Given the description of an element on the screen output the (x, y) to click on. 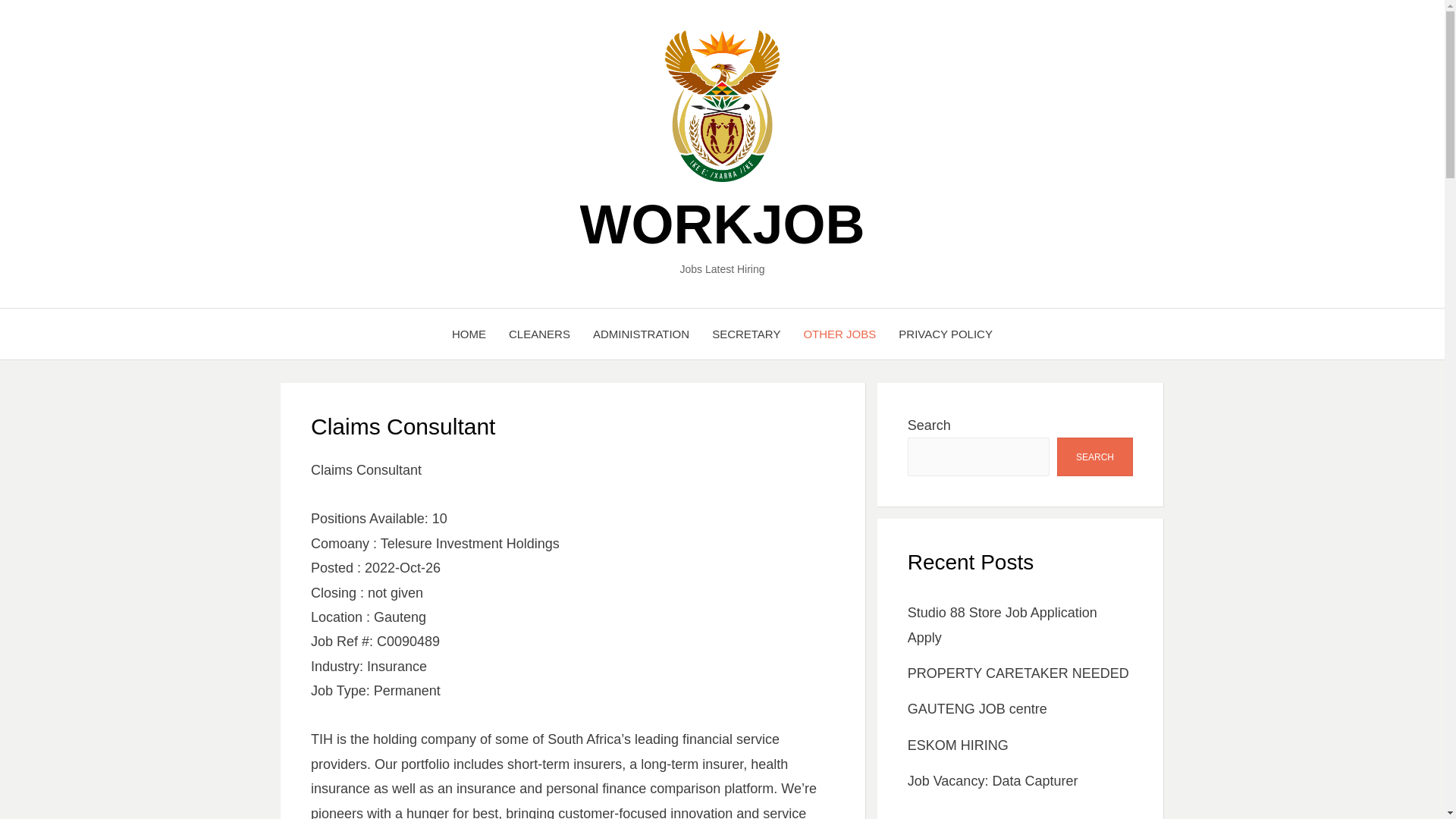
WORKJOB (721, 224)
HOME (469, 333)
CLEANERS (538, 333)
PROPERTY CARETAKER NEEDED (1018, 672)
OTHER JOBS (839, 333)
ADMINISTRATION (640, 333)
Job Vacancy: Data Capturer (992, 780)
Workjob (721, 224)
SECRETARY (746, 333)
ESKOM HIRING (958, 744)
